Given the description of an element on the screen output the (x, y) to click on. 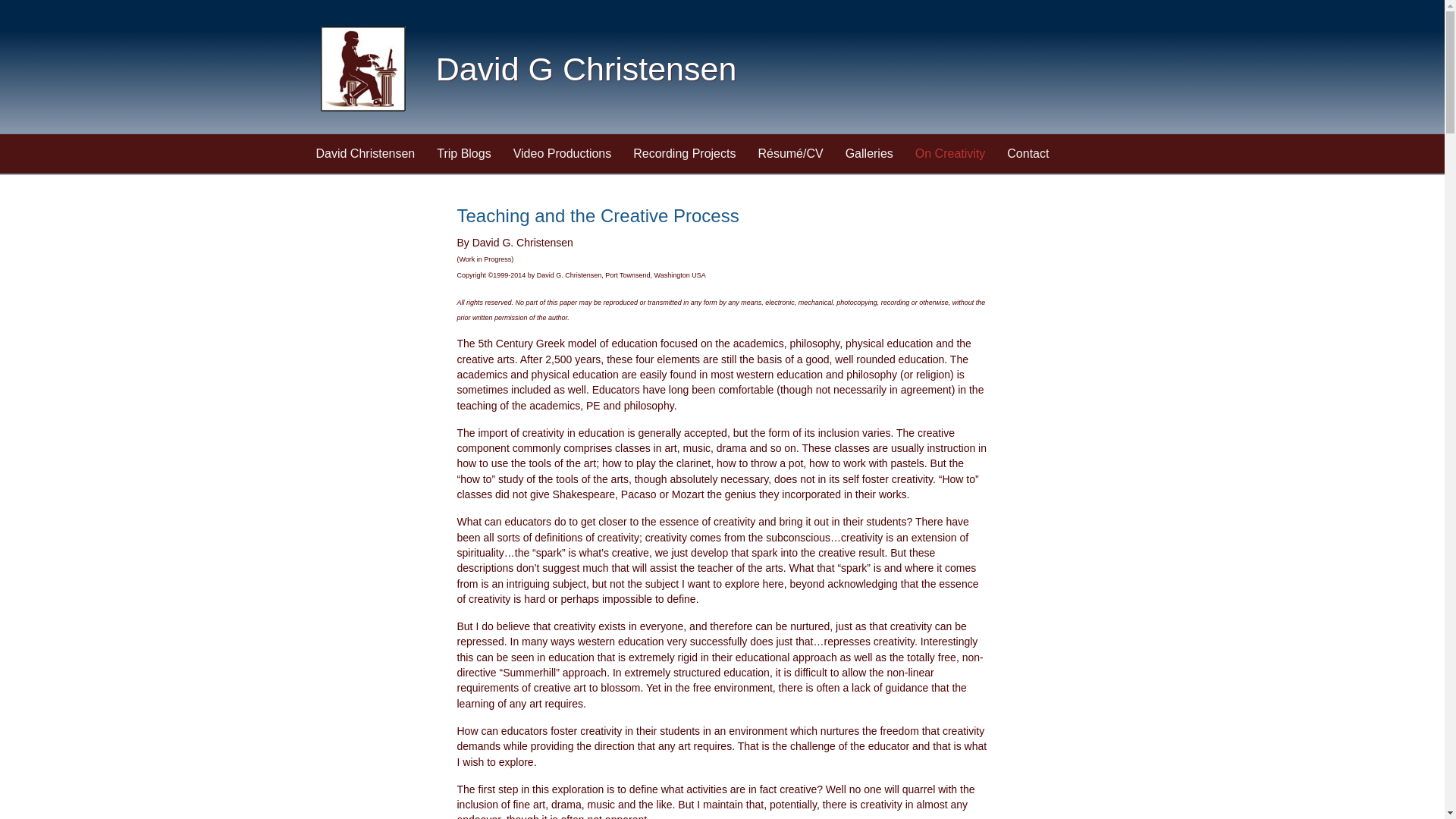
Trip Blogs (463, 153)
Contact (1027, 153)
David Christensen (364, 153)
Galleries (869, 153)
David G Christensen (585, 68)
Recording Projects (684, 153)
dclogo (362, 68)
On Creativity (949, 153)
David G Christensen (585, 68)
Video Productions (562, 153)
